Given the description of an element on the screen output the (x, y) to click on. 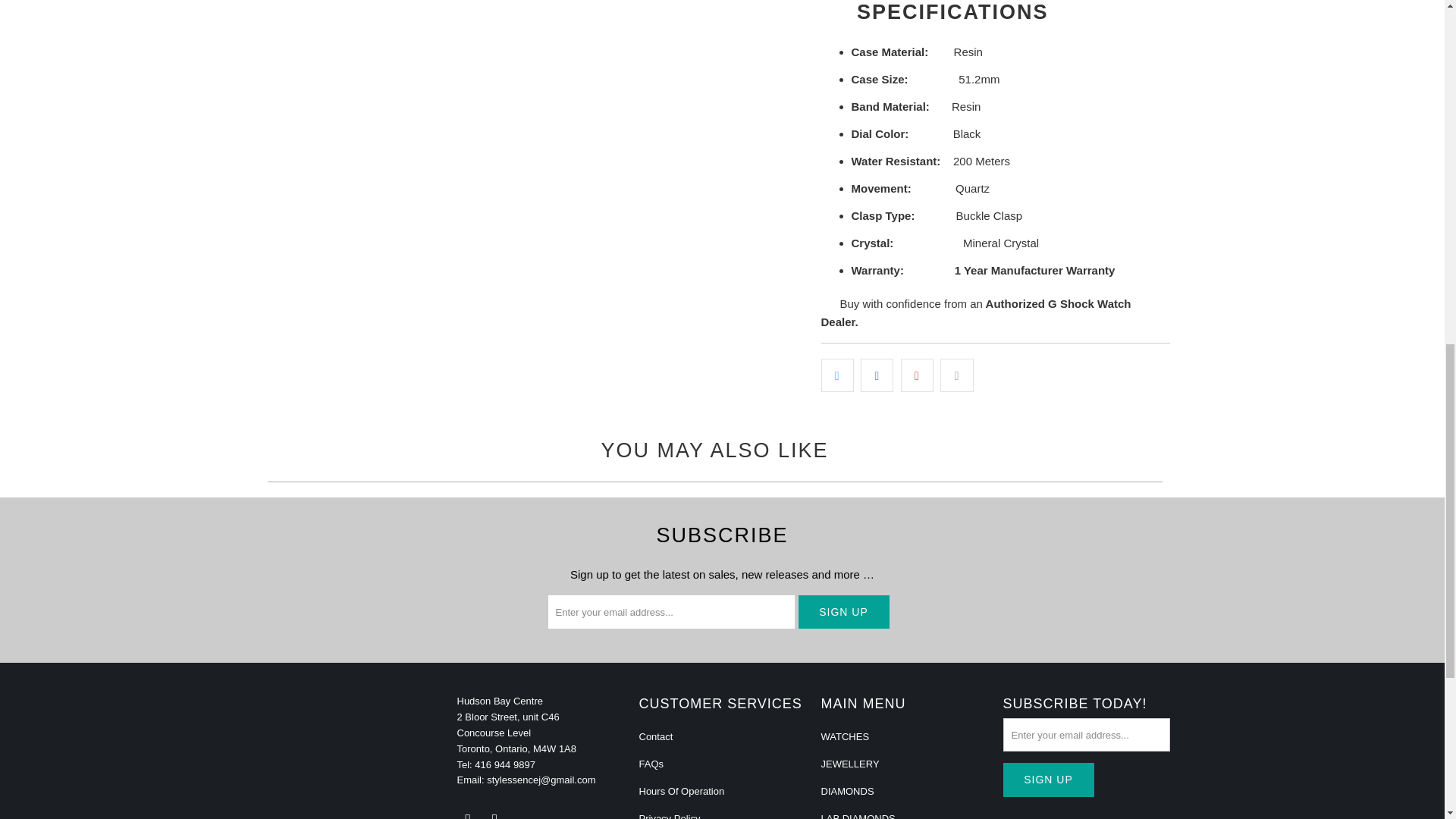
Share this on Pinterest (917, 374)
Share this on Facebook (876, 374)
Share this on Twitter (837, 374)
Stylessence Fine Jewellery on Facebook (468, 815)
Sign Up (842, 611)
Email this to a friend (956, 374)
Sign Up (1048, 779)
Stylessence Fine Jewellery on Instagram (494, 815)
